Given the description of an element on the screen output the (x, y) to click on. 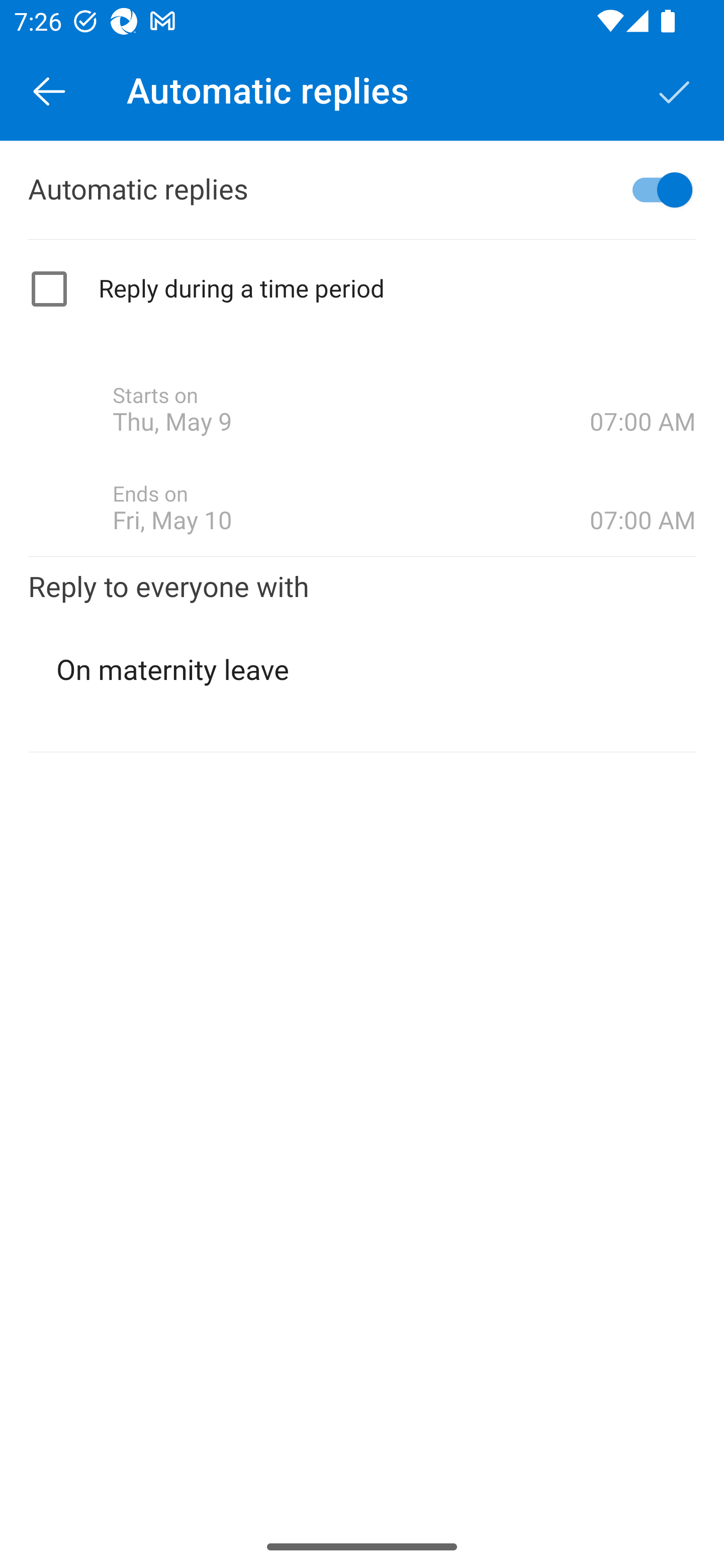
Back (49, 90)
Save (674, 90)
Automatic replies (362, 190)
Reply during a time period (362, 288)
07:00 AM (642, 387)
Starts on Thu, May 9 (351, 409)
07:00 AM (642, 485)
Ends on Fri, May 10 (351, 507)
Reply to everyone with Edit box On maternity leave (361, 653)
On maternity leave (363, 669)
